Given the description of an element on the screen output the (x, y) to click on. 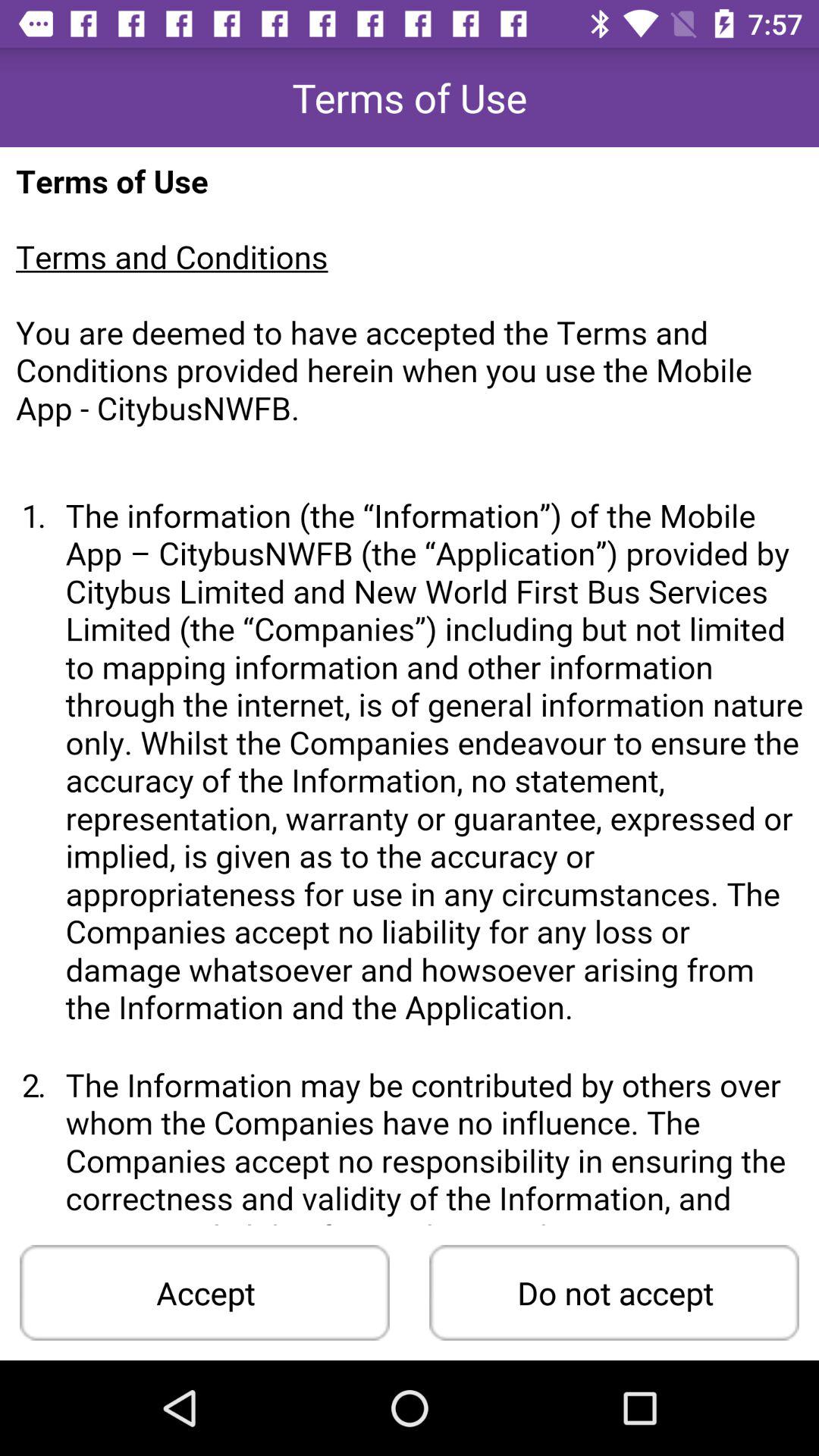
select the all page (409, 686)
